Given the description of an element on the screen output the (x, y) to click on. 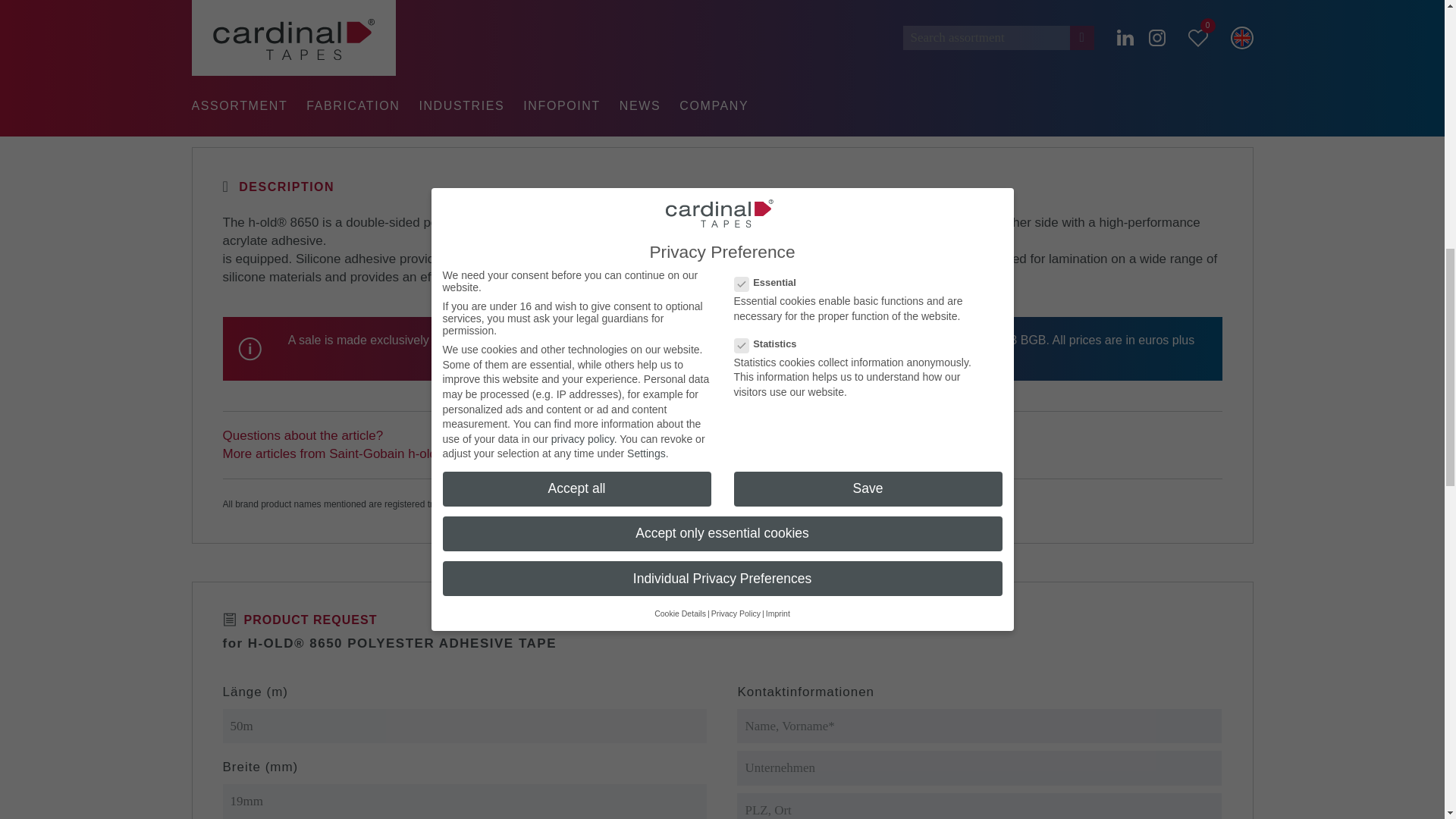
DESCRIPTION (278, 187)
All articles from Saint-Gobain h-old (330, 453)
